Given the description of an element on the screen output the (x, y) to click on. 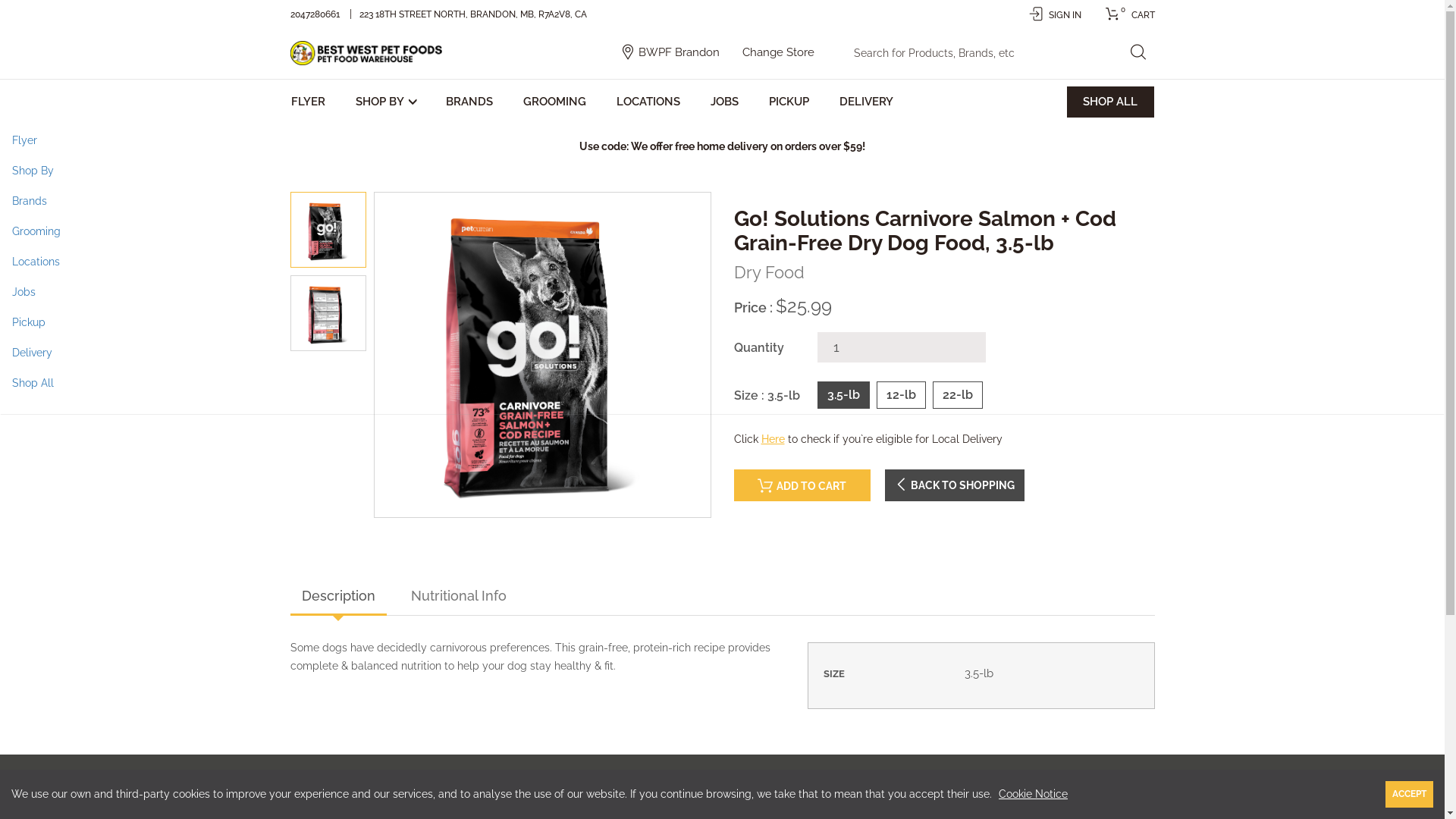
Cookie Notice Element type: text (1032, 793)
Jobs Element type: text (721, 291)
Locations Element type: text (721, 261)
FLYER Element type: text (310, 101)
SHOP BY Element type: text (385, 101)
BRANDS Element type: text (468, 101)
Delivery Element type: text (721, 352)
22-lb Element type: text (956, 395)
SHOP ALL Element type: text (1109, 101)
Description Element type: text (337, 596)
Here Element type: text (772, 438)
SIGN IN Element type: text (1054, 14)
Brands Element type: text (721, 200)
Pickup Element type: text (721, 322)
DELIVERY Element type: text (866, 101)
Flyer Element type: text (721, 140)
223 18TH STREET NORTH, BRANDON, MB, R7A2V8, CA Element type: text (474, 14)
BWPF Brandon Element type: text (678, 52)
3.5-lb Element type: text (842, 395)
PICKUP Element type: text (788, 101)
12-lb Element type: text (900, 395)
JOBS Element type: text (724, 101)
ACCEPT Element type: text (1409, 794)
Shop By Element type: text (721, 170)
0 CART Element type: text (1125, 14)
Shop All Element type: text (721, 382)
LOCATIONS Element type: text (648, 101)
Nutritional Info Element type: text (457, 596)
BACK TO SHOPPING Element type: text (953, 485)
2047280661 Element type: text (315, 14)
Change Store Element type: text (778, 52)
GROOMING Element type: text (553, 101)
Grooming Element type: text (721, 231)
ADD TO CART Element type: text (802, 485)
